Given the description of an element on the screen output the (x, y) to click on. 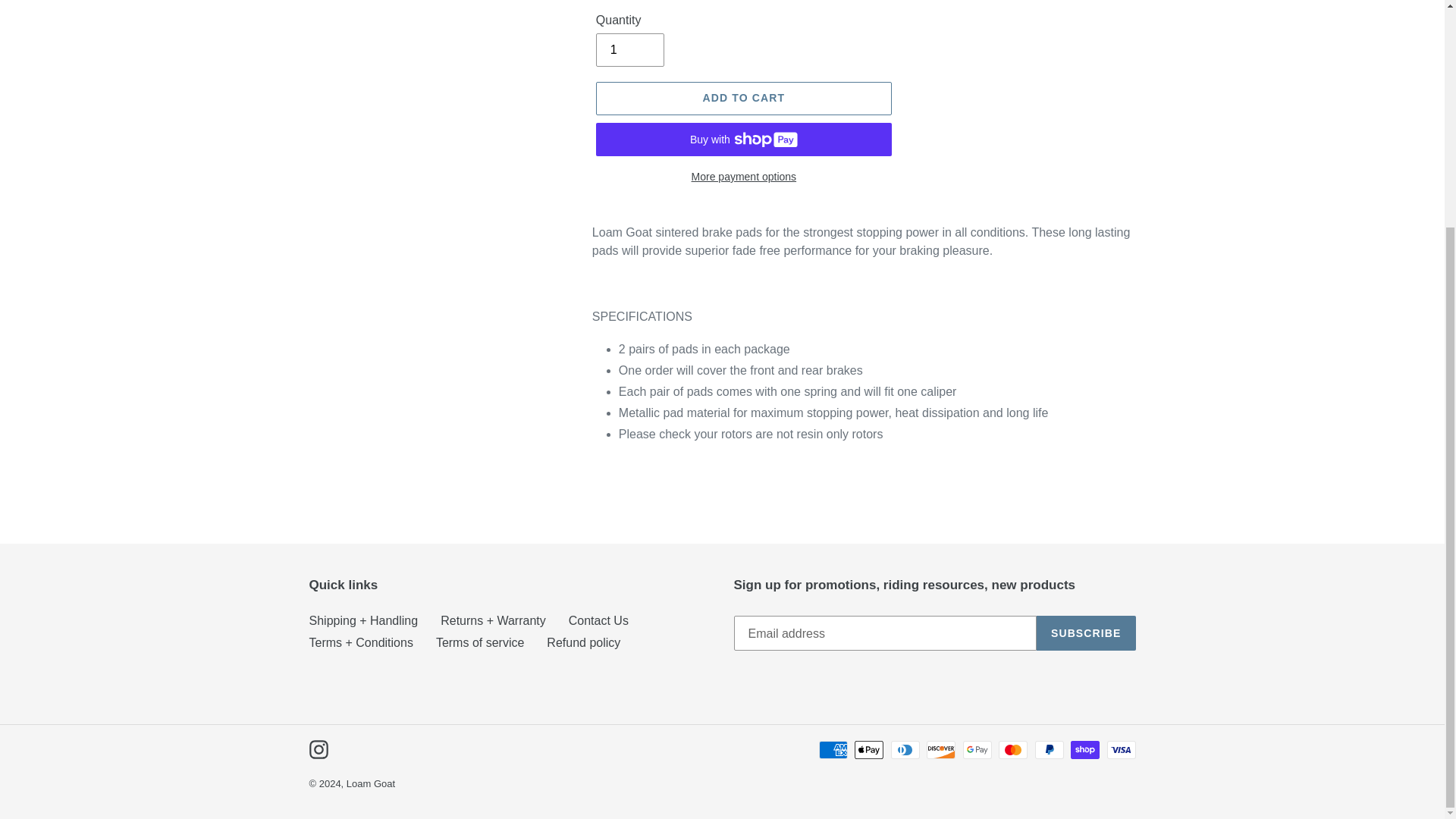
1 (629, 49)
